Given the description of an element on the screen output the (x, y) to click on. 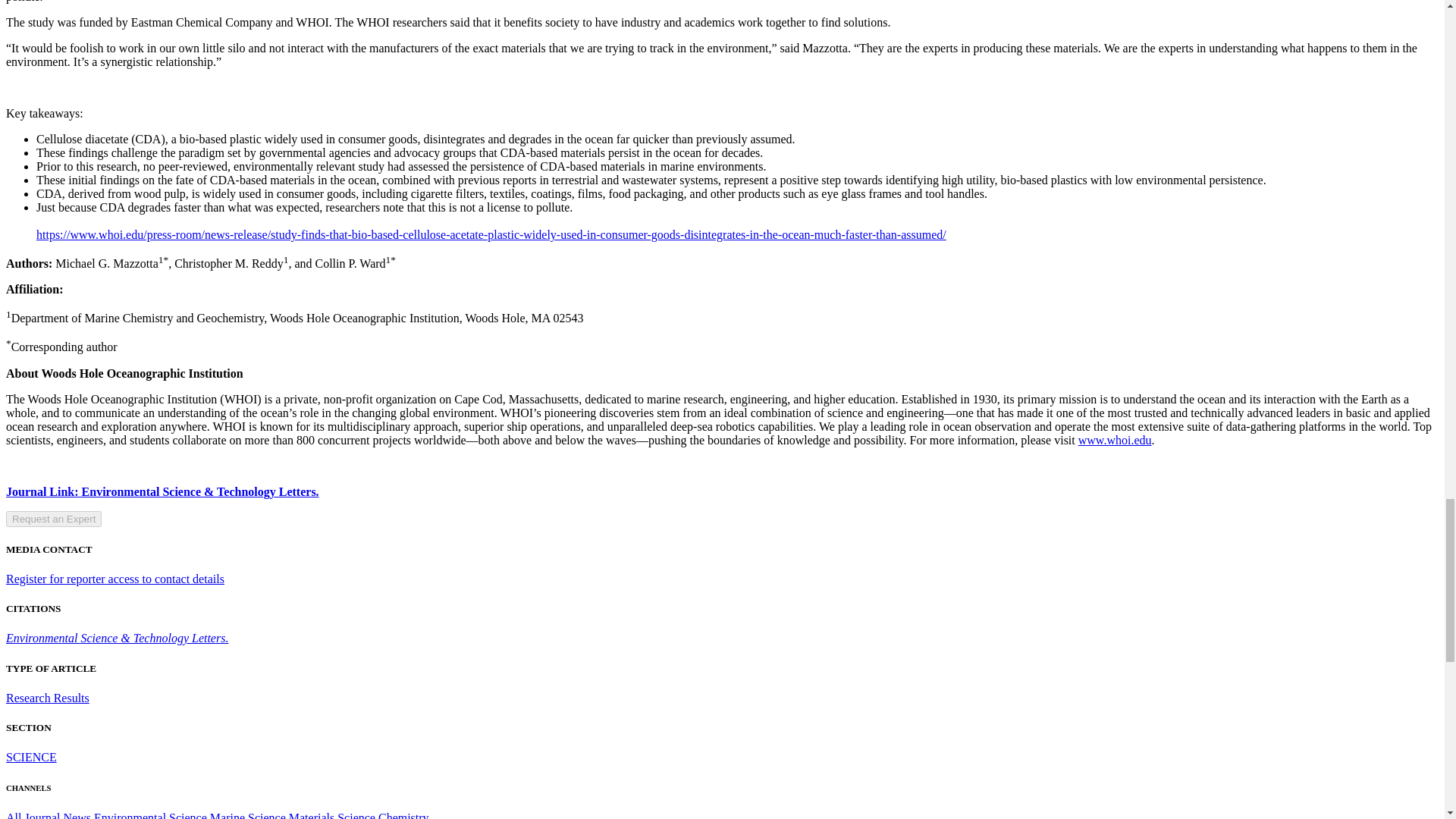
Show all articles in this channel (47, 815)
Show all articles in this channel (30, 757)
Research Results (46, 697)
Show all articles in this channel (150, 815)
